Given the description of an element on the screen output the (x, y) to click on. 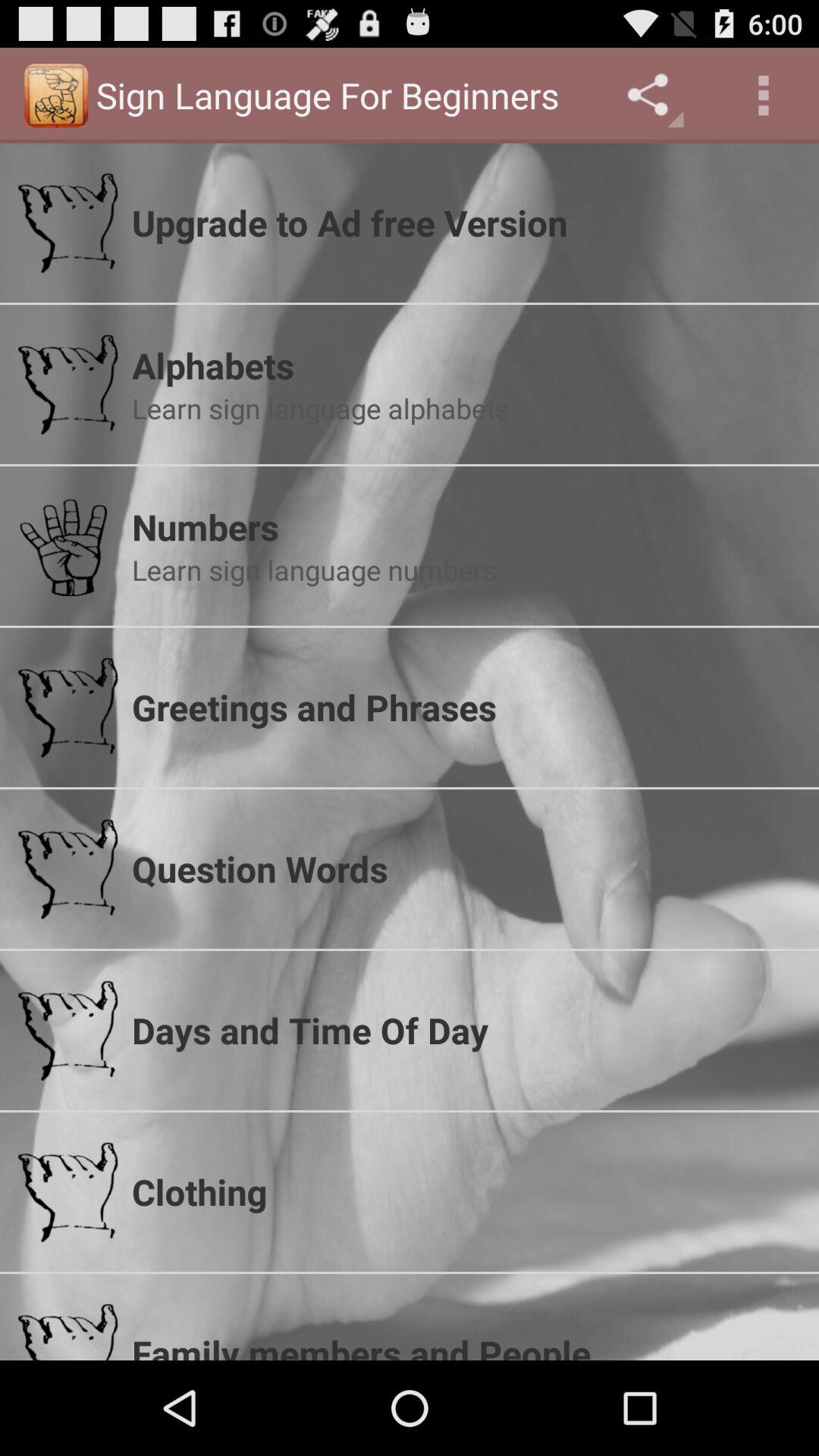
choose the family members and item (465, 1344)
